Given the description of an element on the screen output the (x, y) to click on. 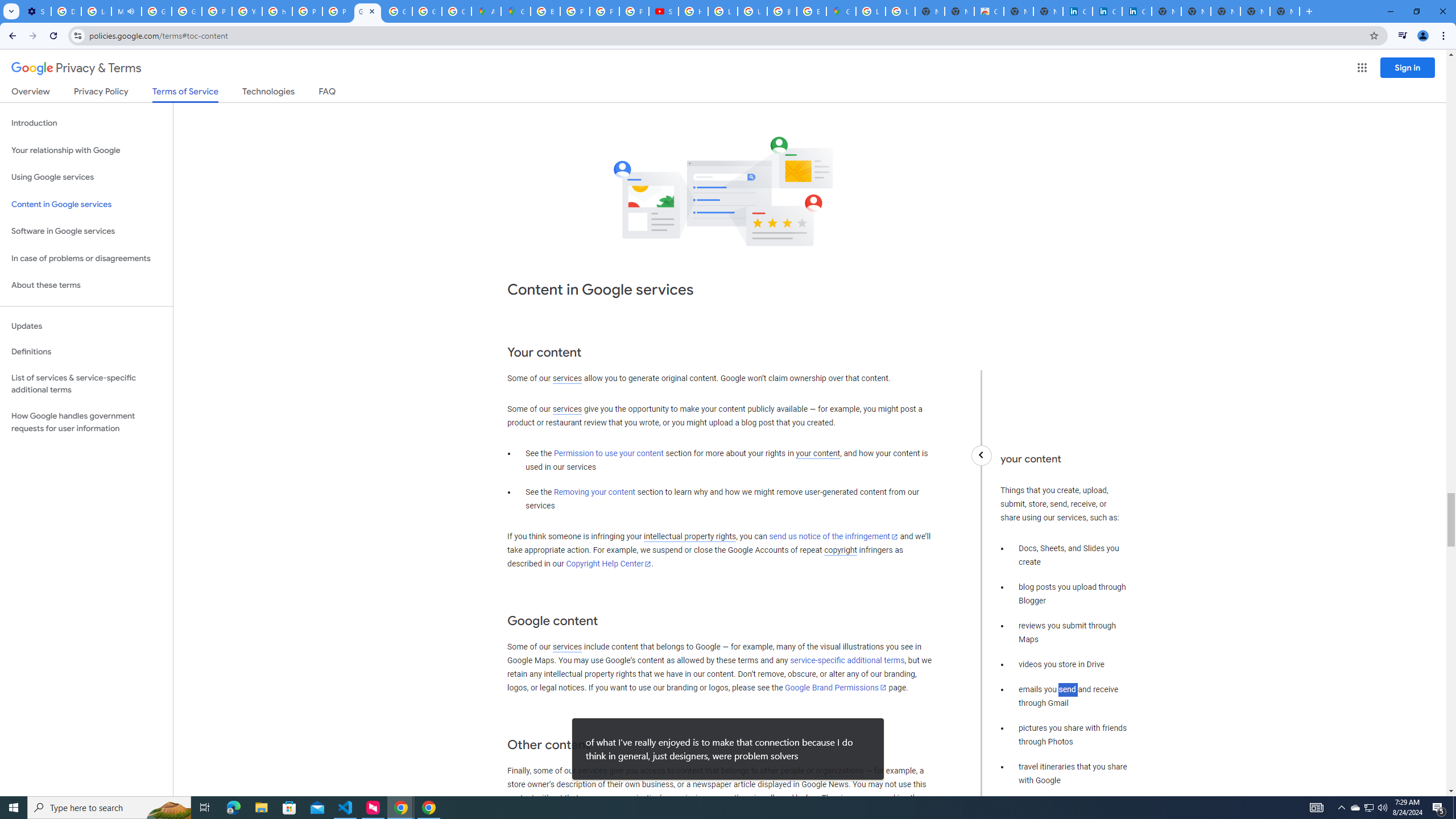
Your relationship with Google (86, 150)
How Chrome protects your passwords - Google Chrome Help (692, 11)
your content (817, 453)
Google Account Help (156, 11)
Mute tab (130, 10)
How Google handles government requests for user information (86, 422)
Introduction (86, 122)
service-specific additional terms (847, 660)
services (591, 770)
